Given the description of an element on the screen output the (x, y) to click on. 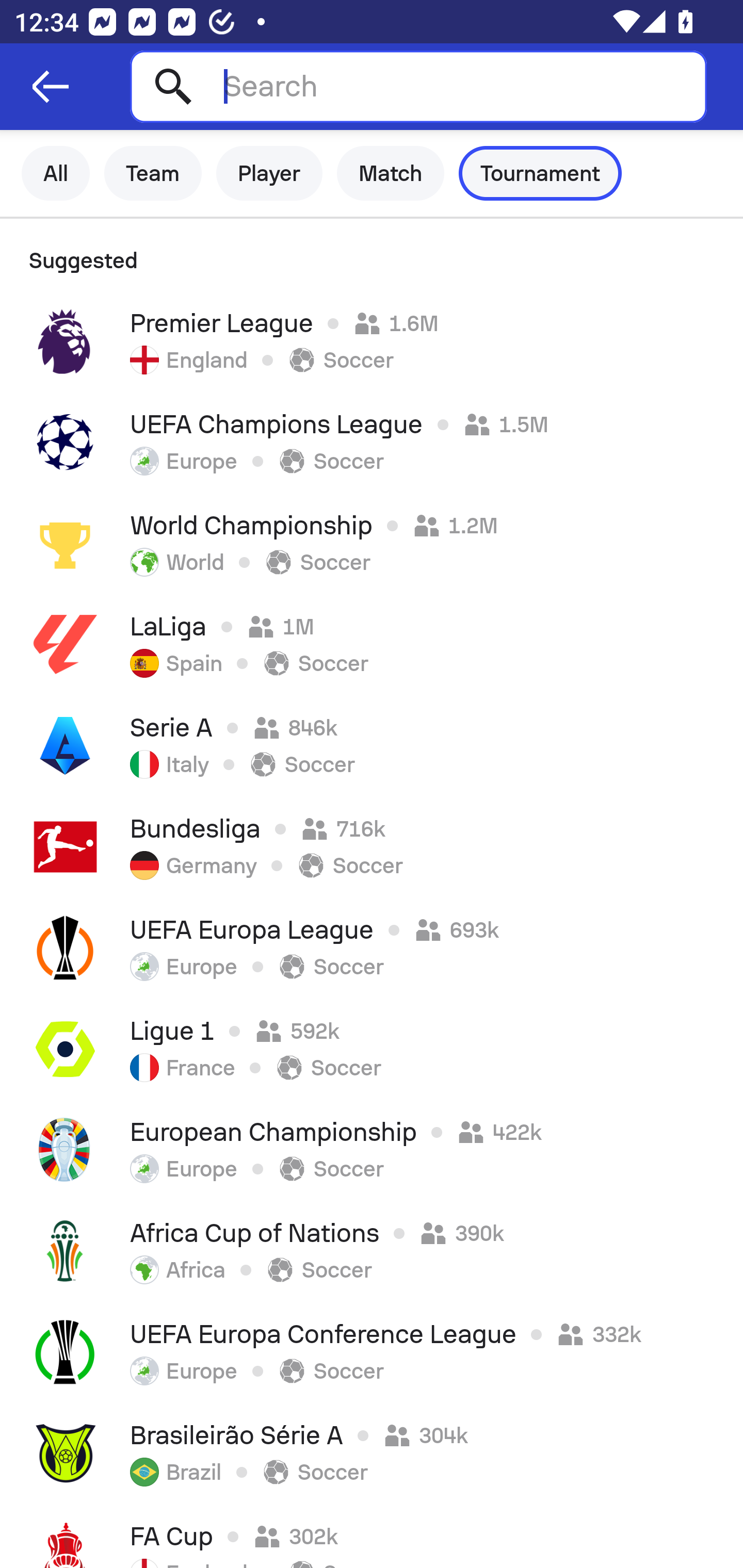
Navigate up (50, 86)
Search (418, 86)
All (55, 172)
Team (152, 172)
Player (268, 172)
Match (390, 172)
Tournament (540, 172)
Suggested (371, 254)
Premier League 1.6M England Soccer (371, 341)
UEFA Champions League 1.5M Europe Soccer (371, 442)
World Championship 1.2M World Soccer (371, 543)
LaLiga 1M Spain Soccer (371, 644)
Serie A 846k Italy Soccer (371, 745)
Bundesliga 716k Germany Soccer (371, 846)
UEFA Europa League 693k Europe Soccer (371, 947)
Ligue 1 592k France Soccer (371, 1048)
European Championship 422k Europe Soccer (371, 1150)
Africa Cup of Nations 390k Africa Soccer (371, 1251)
UEFA Europa Conference League 332k Europe Soccer (371, 1352)
Brasileirão Série A 304k Brazil Soccer (371, 1453)
